Given the description of an element on the screen output the (x, y) to click on. 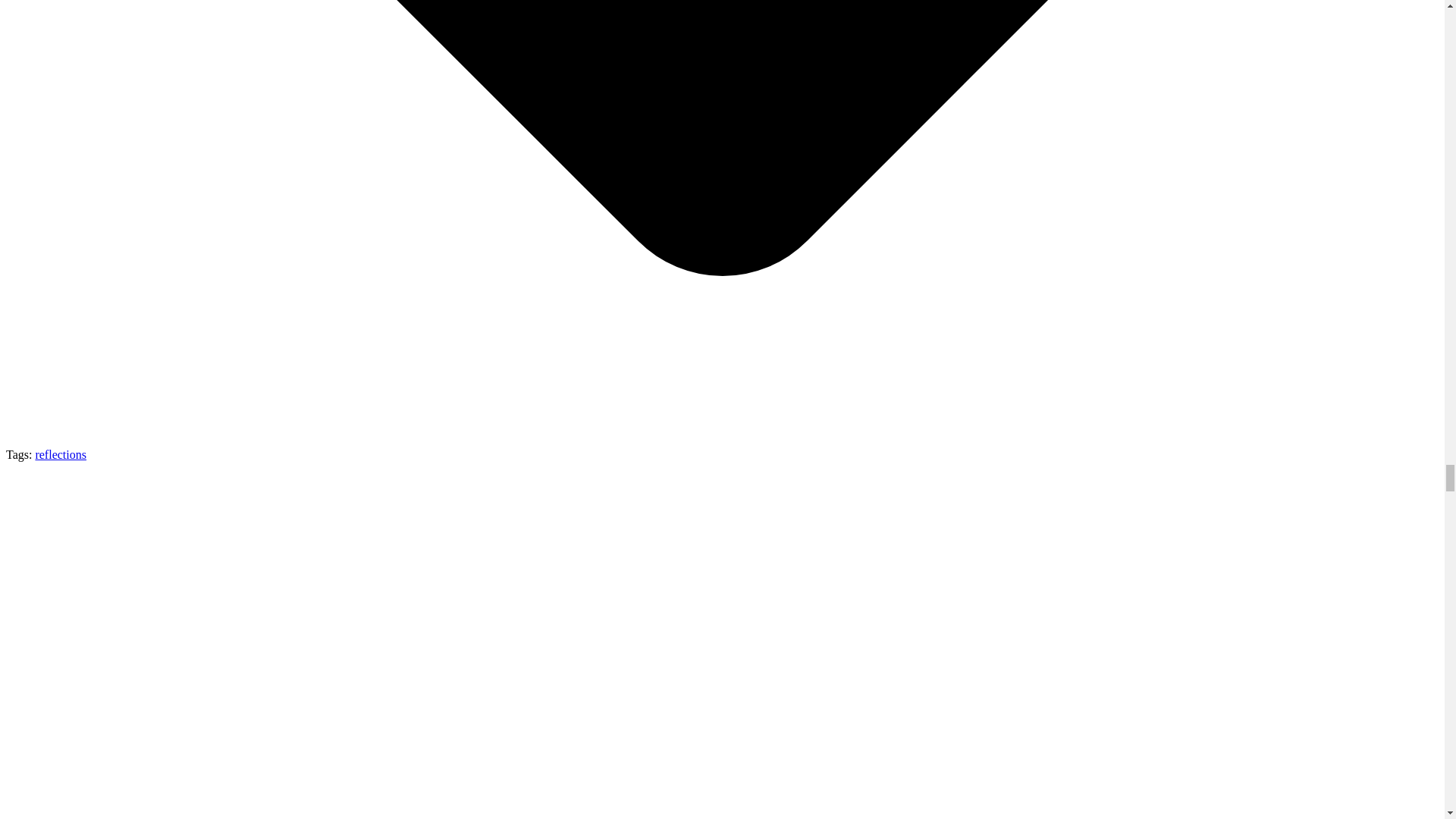
reflections (59, 454)
